Given the description of an element on the screen output the (x, y) to click on. 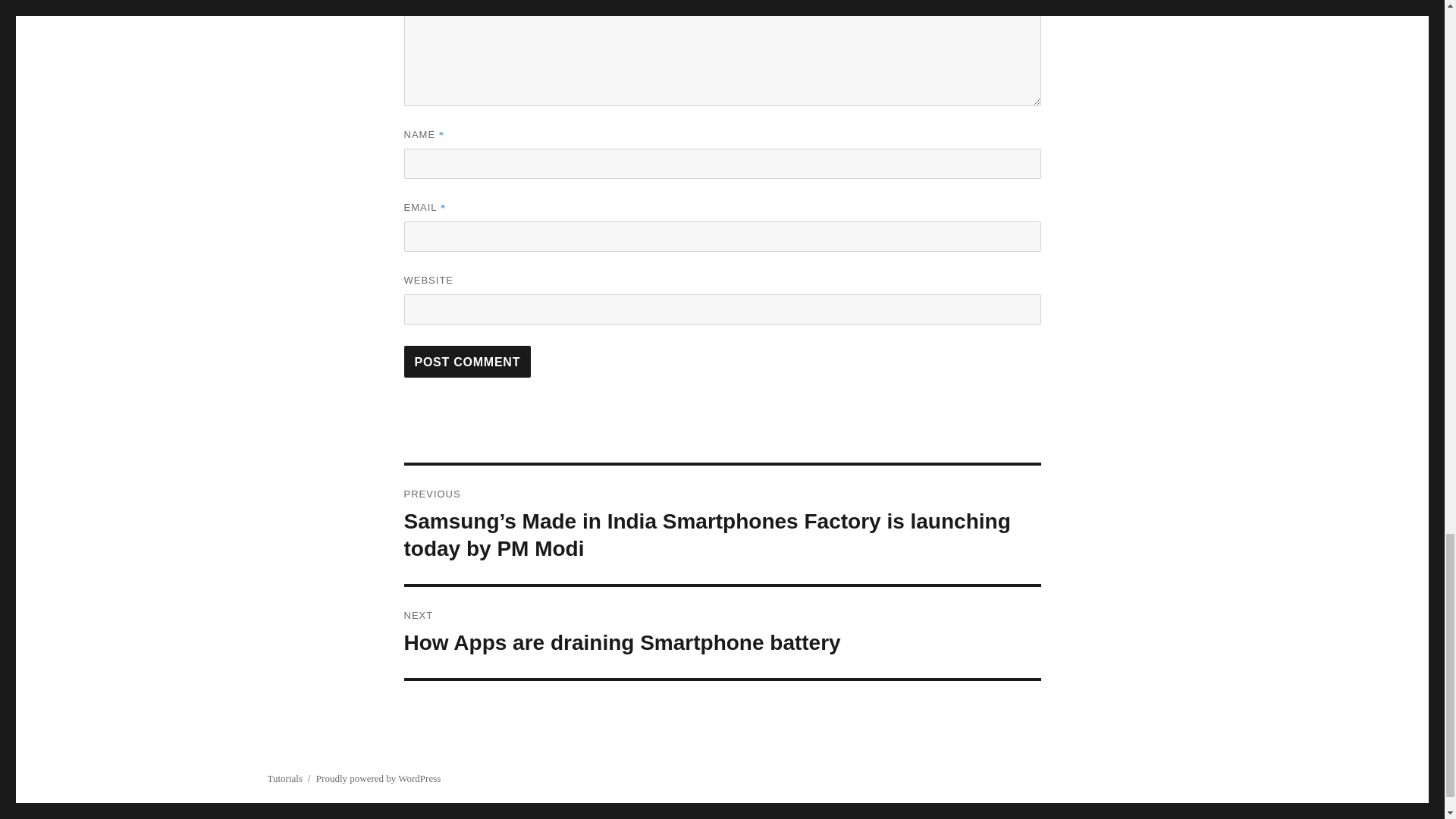
Post Comment (467, 361)
Post Comment (722, 632)
Proudly powered by WordPress (467, 361)
Tutorials (378, 778)
